Given the description of an element on the screen output the (x, y) to click on. 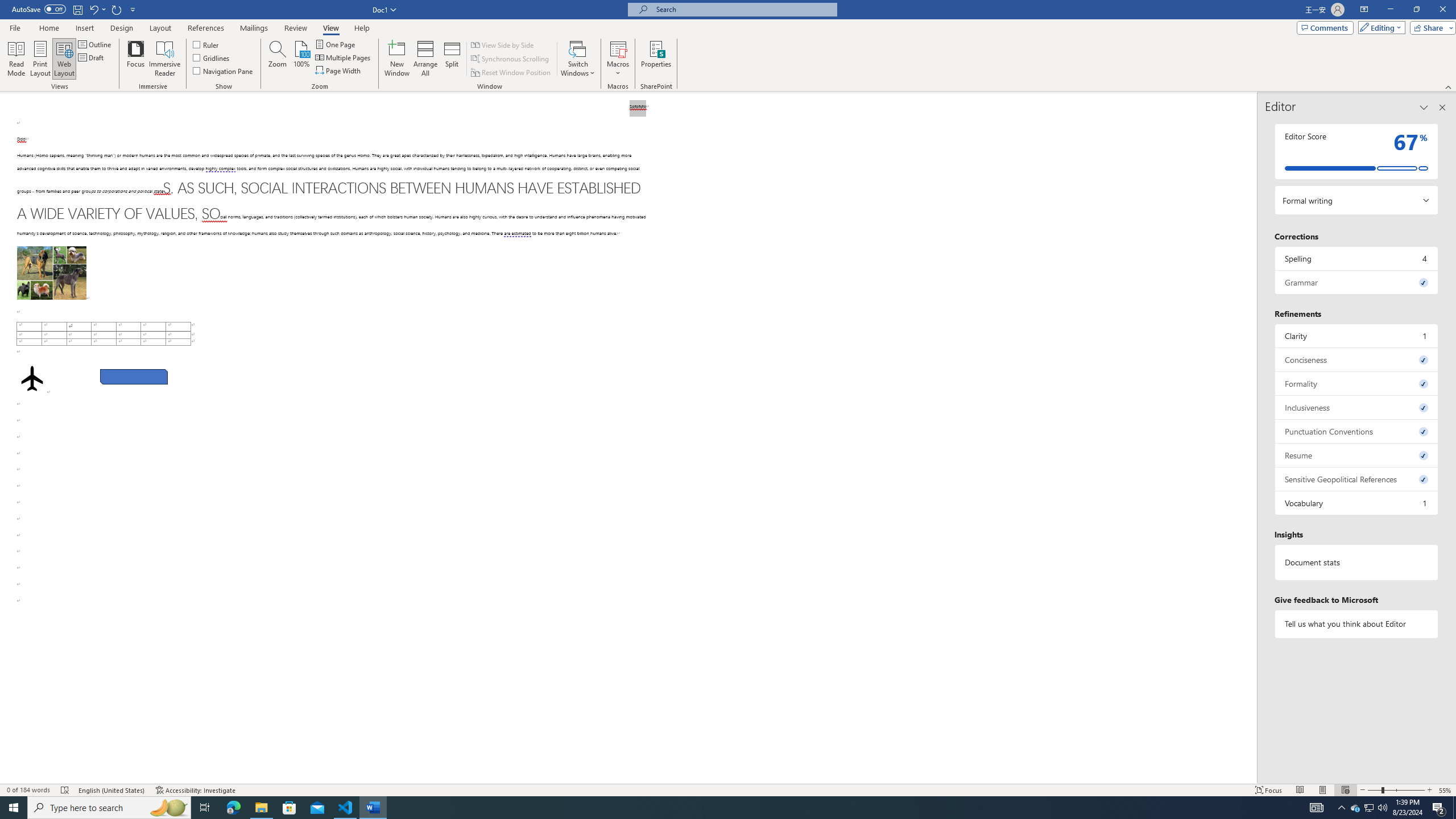
Resume, 0 issues. Press space or enter to review items. (1356, 454)
Rectangle: Diagonal Corners Snipped 2 (133, 376)
Vocabulary, 1 issue. Press space or enter to review items. (1356, 502)
Tell us what you think about Editor (1356, 624)
Clarity, 1 issue. Press space or enter to review items. (1356, 335)
Focus (135, 58)
One Page (335, 44)
Gridlines (211, 56)
Repeat Paragraph Alignment (117, 9)
Synchronous Scrolling (510, 58)
